Given the description of an element on the screen output the (x, y) to click on. 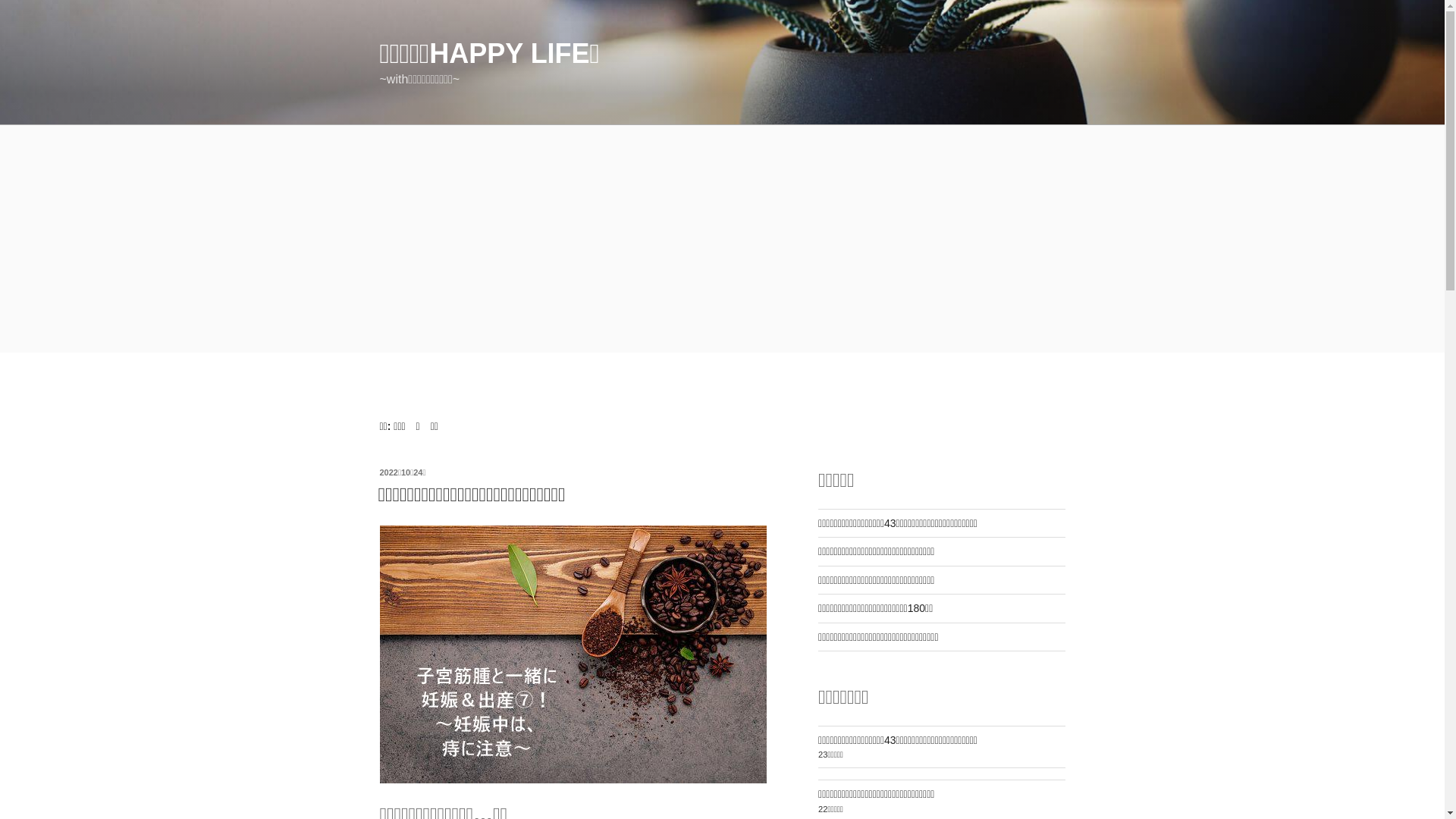
Advertisement Element type: hover (721, 238)
